Given the description of an element on the screen output the (x, y) to click on. 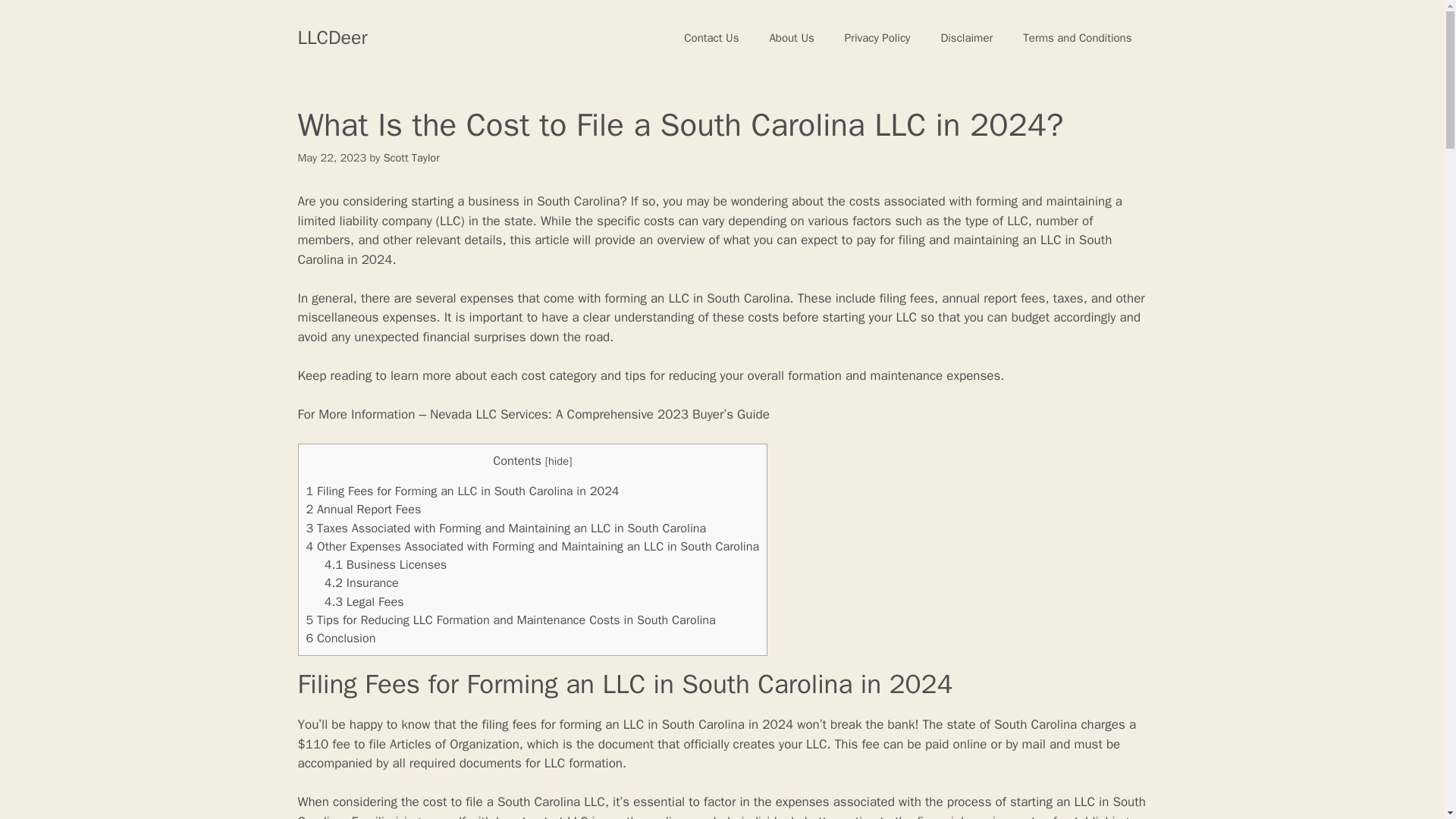
A Simple Guide to Starting an South Carolina LLC in 2024 (720, 806)
4.1 Business Licenses (385, 564)
starting an LLC in South Carolina (720, 806)
View all posts by Scott Taylor (411, 157)
limited liability company (363, 220)
LLC in South Carolina (704, 249)
Contact Us (711, 37)
Disclaimer (965, 37)
South Carolina LLC (551, 801)
LLCDeer (331, 37)
About Us (791, 37)
2 Annual Report Fees (363, 508)
LLC (450, 220)
